Given the description of an element on the screen output the (x, y) to click on. 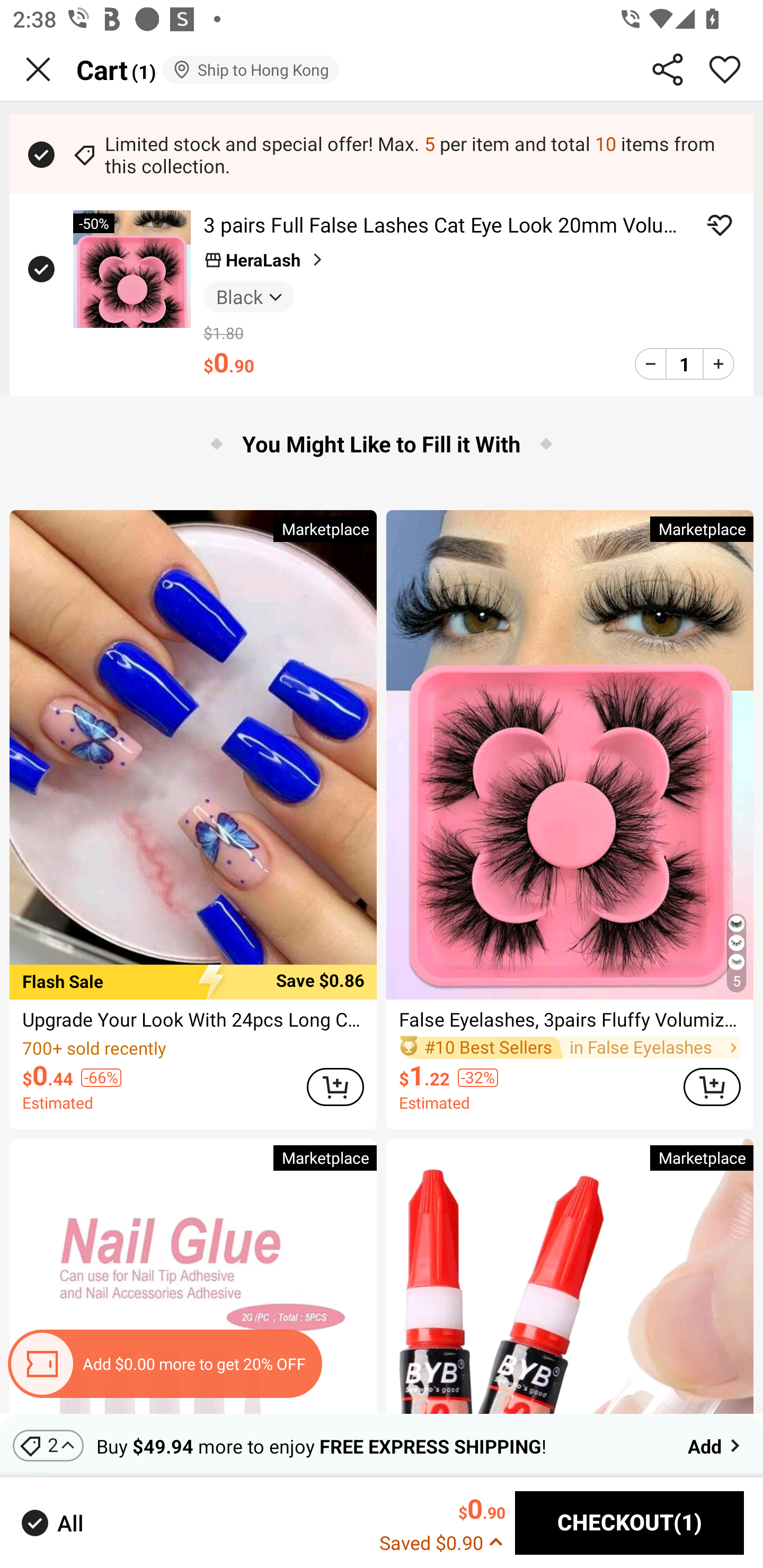
BACK Cart (1) Ship to Hong Kong Share Wishlist (381, 69)
BACK (38, 68)
Wishlist (724, 68)
Share (667, 68)
Ship to Hong Kong (250, 68)
ADD TO WISHLIST (719, 224)
HeraLash (264, 259)
Black (248, 296)
product quantity minus 1 (650, 363)
1 edit product quantity (684, 363)
product quantity add 1 (718, 363)
#10 Best Sellers in False Eyelashes (569, 1046)
ADD TO CART (334, 1086)
ADD TO CART (711, 1086)
Coupon Alert Add $0.00 more to get 20% OFF (164, 1363)
2 (48, 1445)
Add (715, 1445)
CHECKOUT(1) (629, 1523)
All (51, 1522)
